Given the description of an element on the screen output the (x, y) to click on. 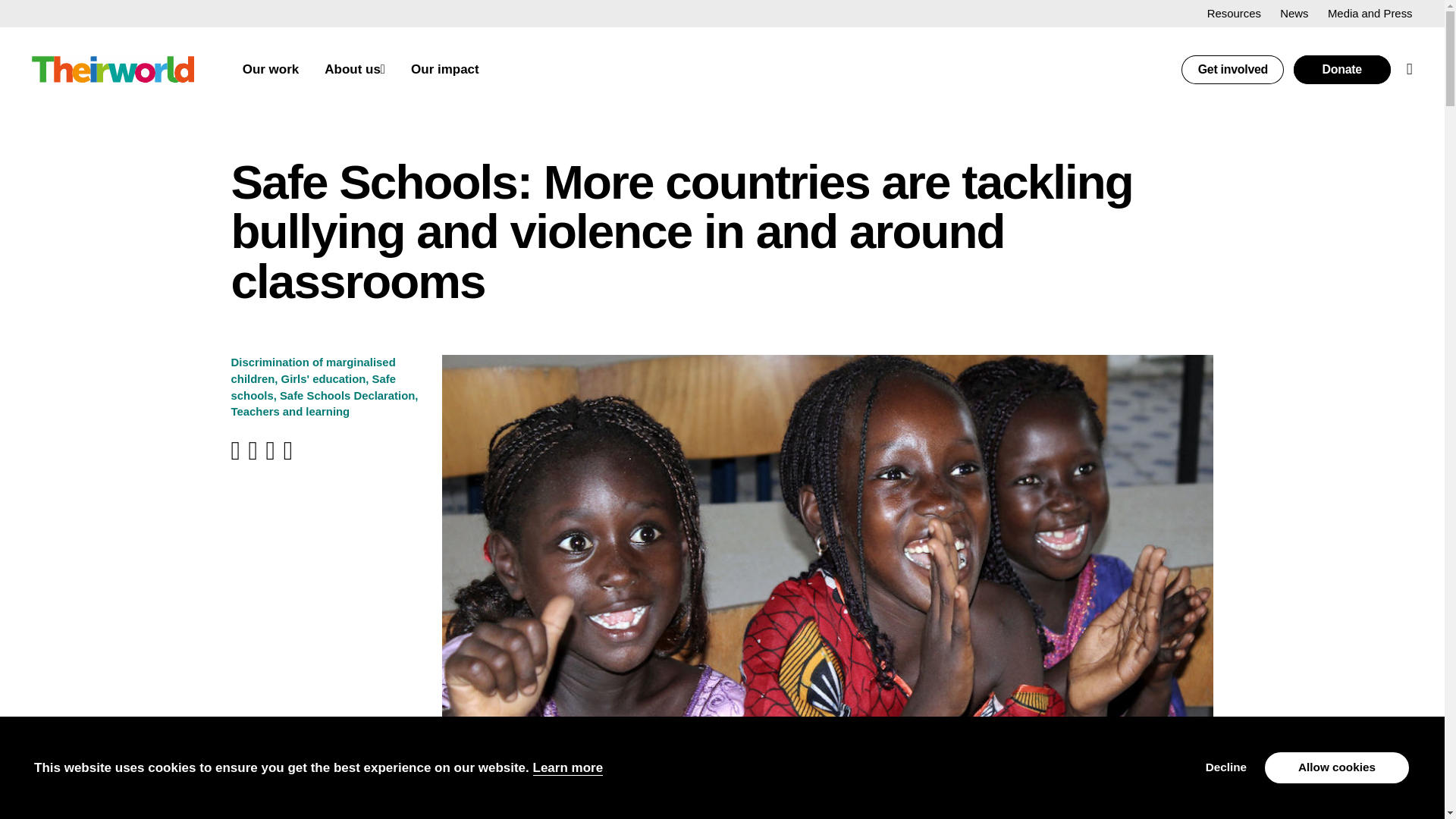
Our impact (444, 69)
Media and Press (1369, 13)
News (1293, 13)
Our work (271, 69)
About us (352, 69)
Donate (1342, 69)
Resources (1233, 13)
Allow cookies (1336, 767)
Decline (1225, 767)
Get involved (1232, 69)
